Given the description of an element on the screen output the (x, y) to click on. 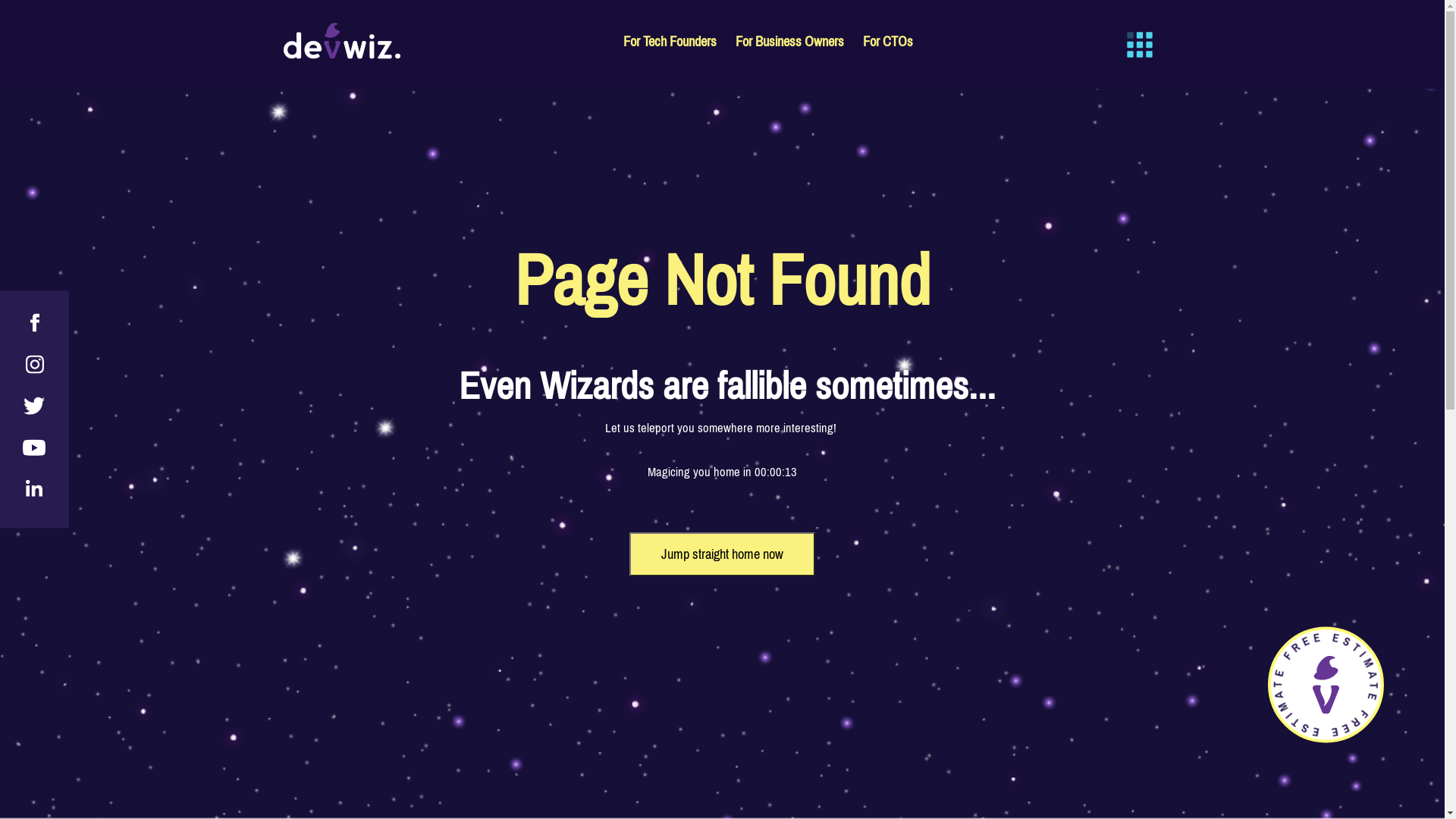
For Tech Founders Element type: text (669, 44)
For CTOs Element type: text (887, 44)
Jump straight home now Element type: text (722, 554)
For Business Owners Element type: text (789, 44)
